Given the description of an element on the screen output the (x, y) to click on. 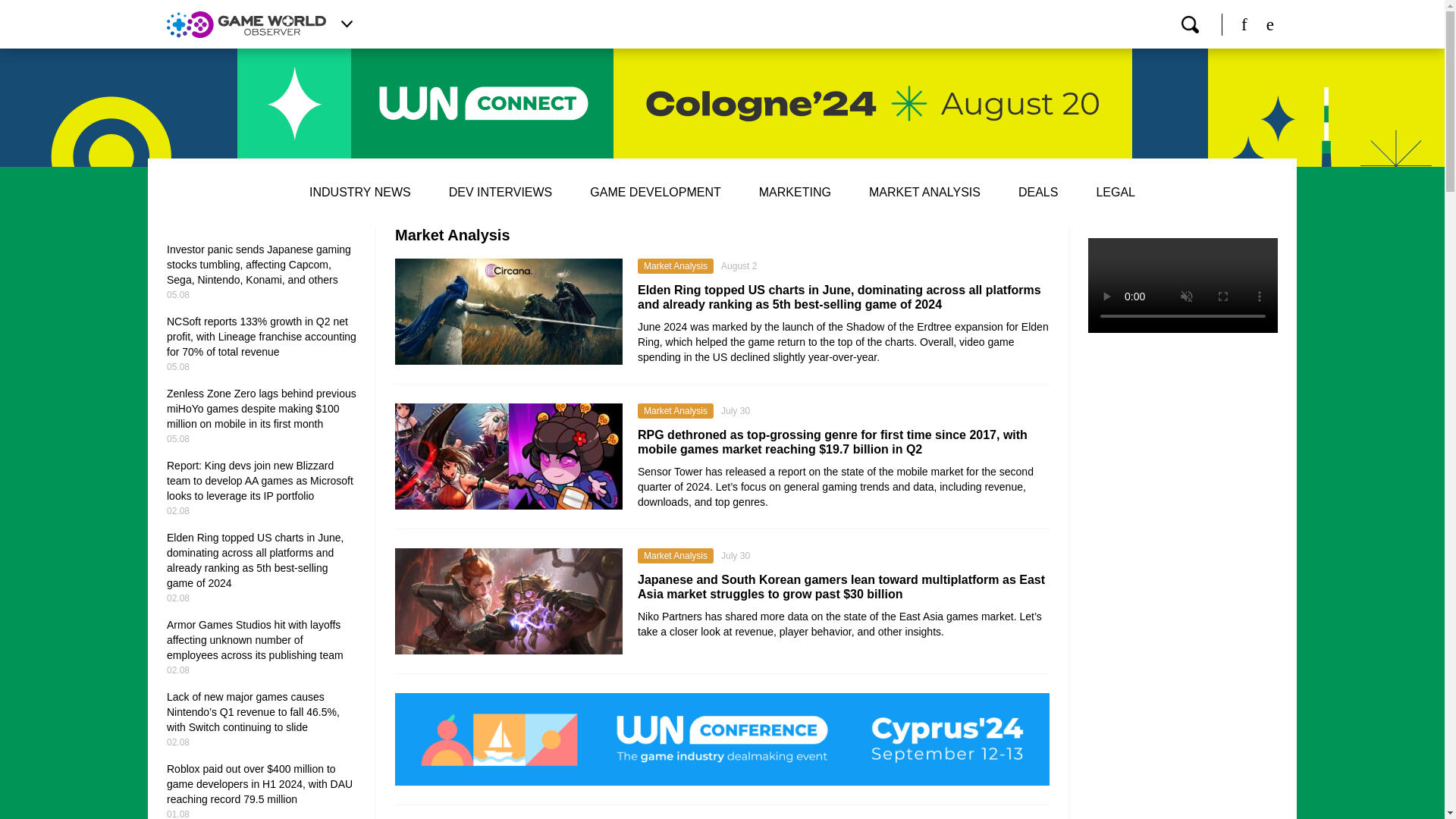
DEALS (1037, 192)
MARKET ANALYSIS (924, 192)
GAME DEVELOPMENT (654, 192)
Home (246, 23)
Search (1189, 23)
DEV INTERVIEWS (500, 192)
LEGAL (1115, 192)
MARKETING (794, 192)
INDUSTRY NEWS (359, 192)
